Given the description of an element on the screen output the (x, y) to click on. 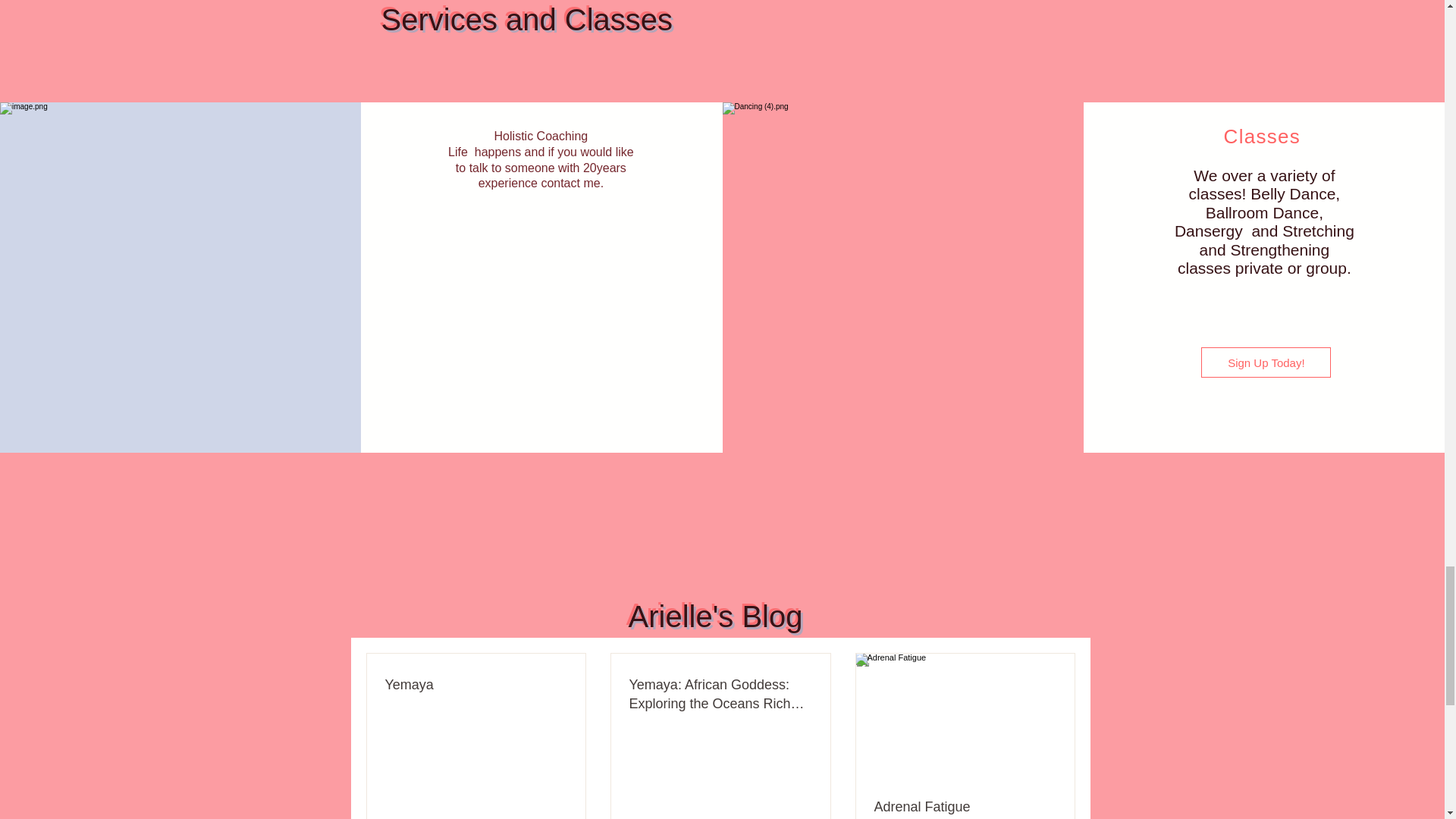
Yemaya (476, 684)
Adrenal Fatigue (964, 806)
Sign Up Today! (1265, 362)
